Given the description of an element on the screen output the (x, y) to click on. 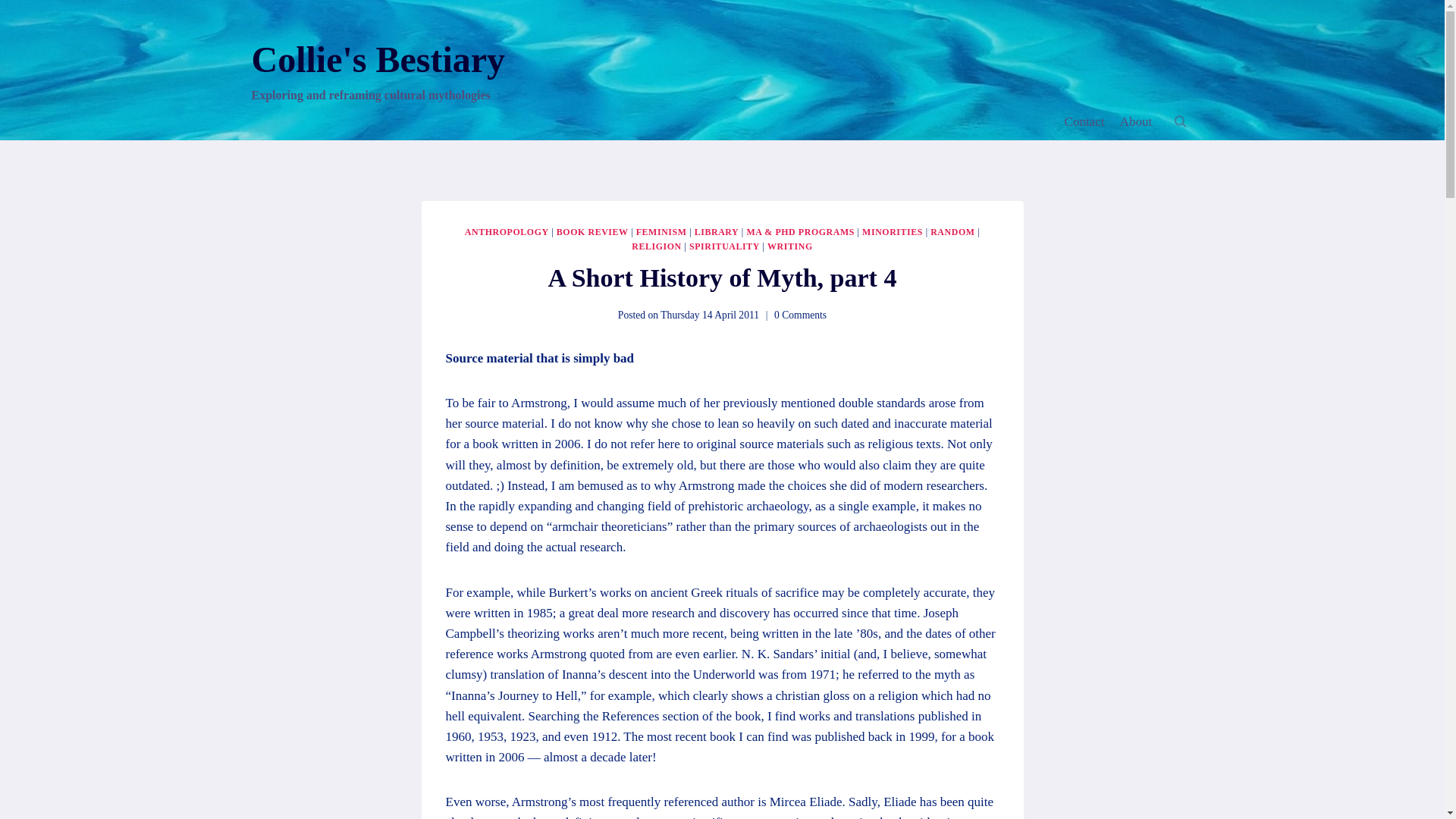
FEMINISM (661, 231)
RANDOM (952, 231)
RELIGION (656, 245)
BOOK REVIEW (592, 231)
Contact (1084, 122)
MINORITIES (892, 231)
WRITING (789, 245)
0 Comments (800, 315)
SPIRITUALITY (724, 245)
About (1136, 122)
0 Comments (800, 315)
ANTHROPOLOGY (506, 231)
LIBRARY (716, 231)
